Given the description of an element on the screen output the (x, y) to click on. 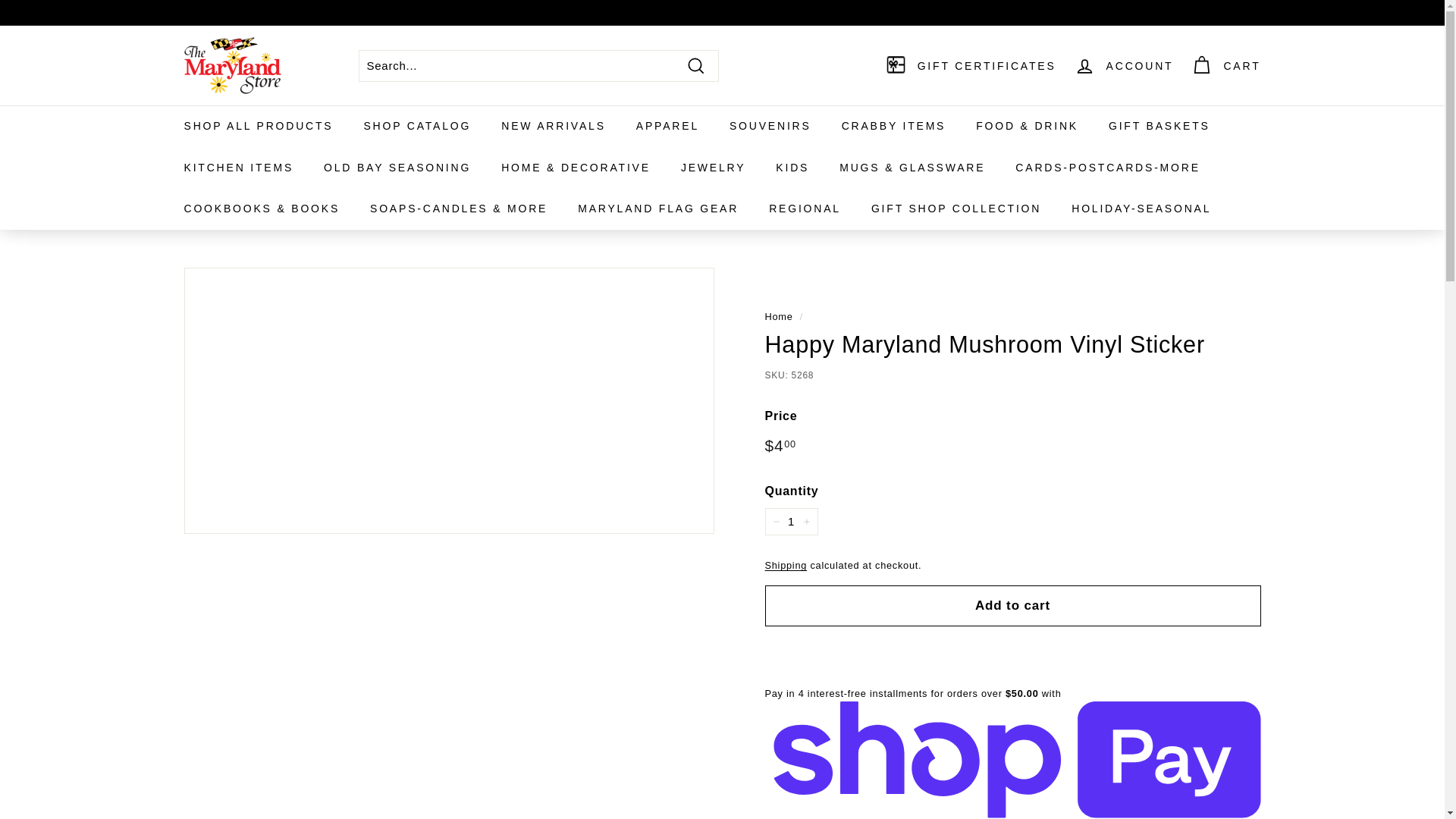
GIFT CERTIFICATES (970, 65)
SHOP CATALOG (416, 125)
Back to the frontpage (778, 316)
1 (790, 521)
NEW ARRIVALS (553, 125)
CRABBY ITEMS (893, 125)
SOUVENIRS (770, 125)
APPAREL (667, 125)
ACCOUNT (1123, 65)
